Given the description of an element on the screen output the (x, y) to click on. 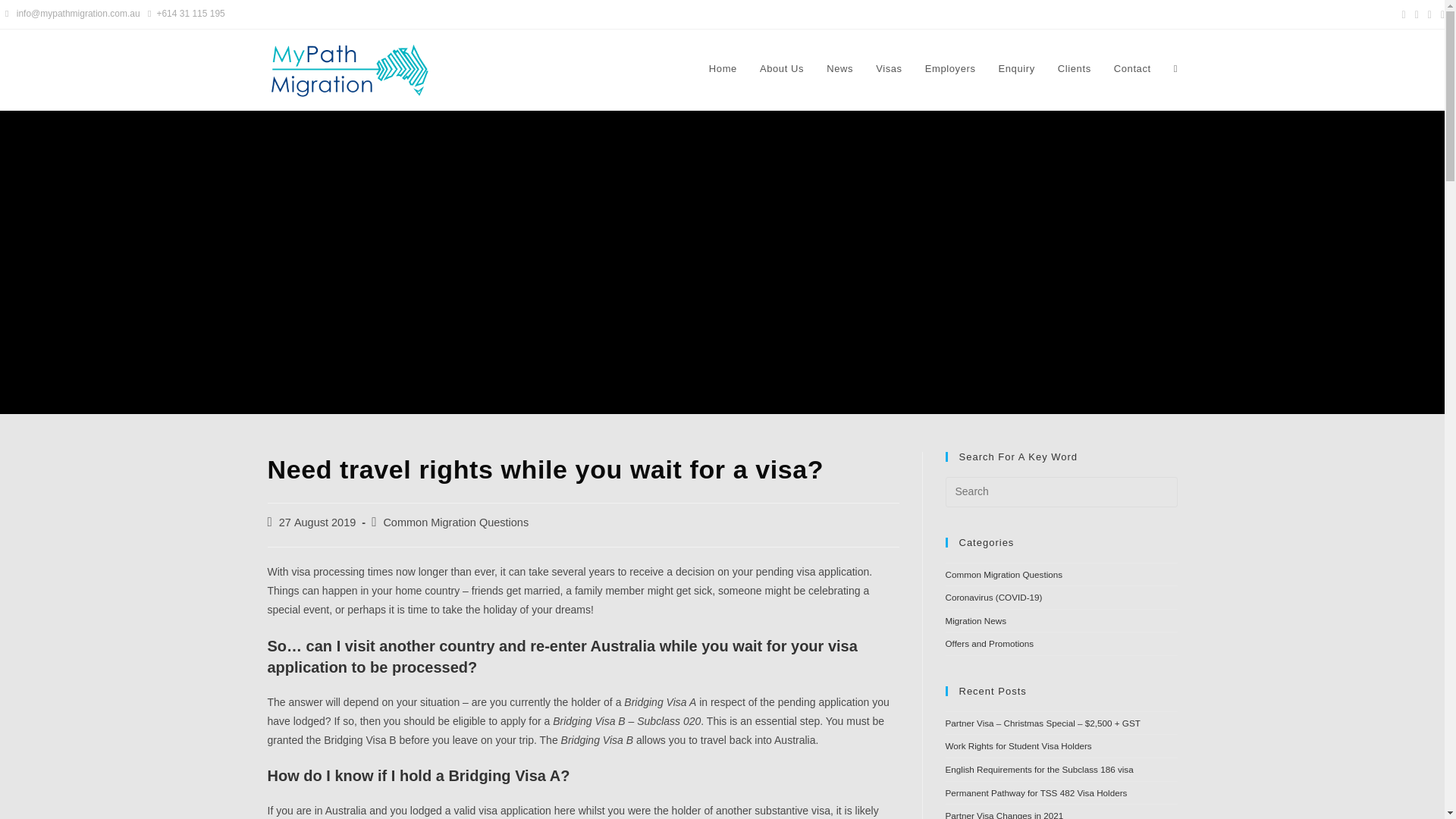
Home (722, 68)
Clients (1074, 68)
Common Migration Questions (455, 522)
Enquiry (1016, 68)
Contact (1131, 68)
Employers (950, 68)
About Us (781, 68)
